Given the description of an element on the screen output the (x, y) to click on. 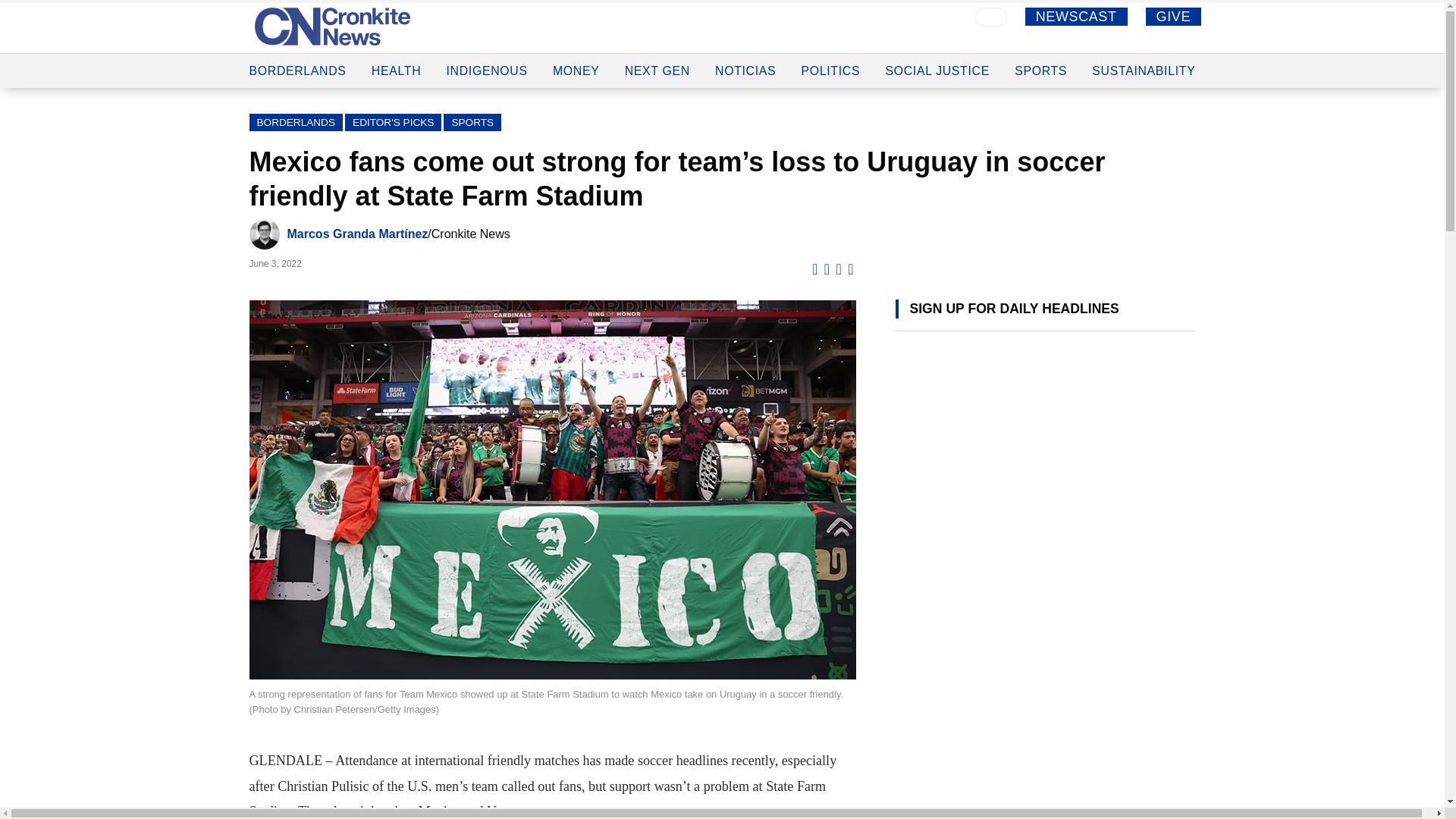
BORDERLANDS (297, 42)
NEXT GEN (657, 50)
INDIGENOUS (486, 46)
BORDERLANDS (295, 122)
MONEY (576, 47)
POLITICS (831, 53)
Cronkite News (332, 26)
SPORTS (472, 122)
NOTICIAS (745, 52)
GIVE (1173, 16)
